Given the description of an element on the screen output the (x, y) to click on. 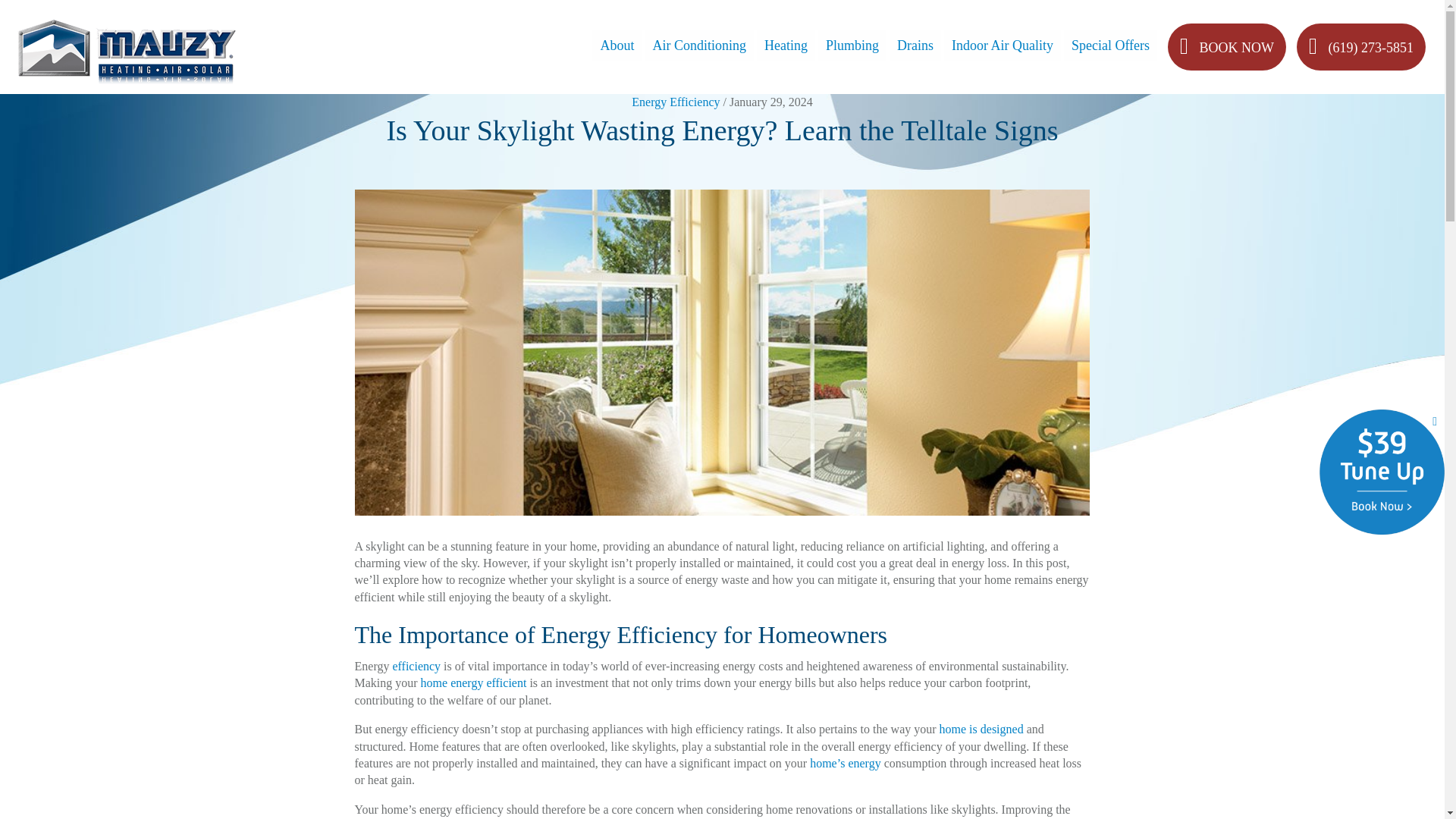
Heating (786, 44)
Air Conditioning (699, 44)
Plumbing (852, 44)
About (617, 44)
Drains (914, 44)
